Given the description of an element on the screen output the (x, y) to click on. 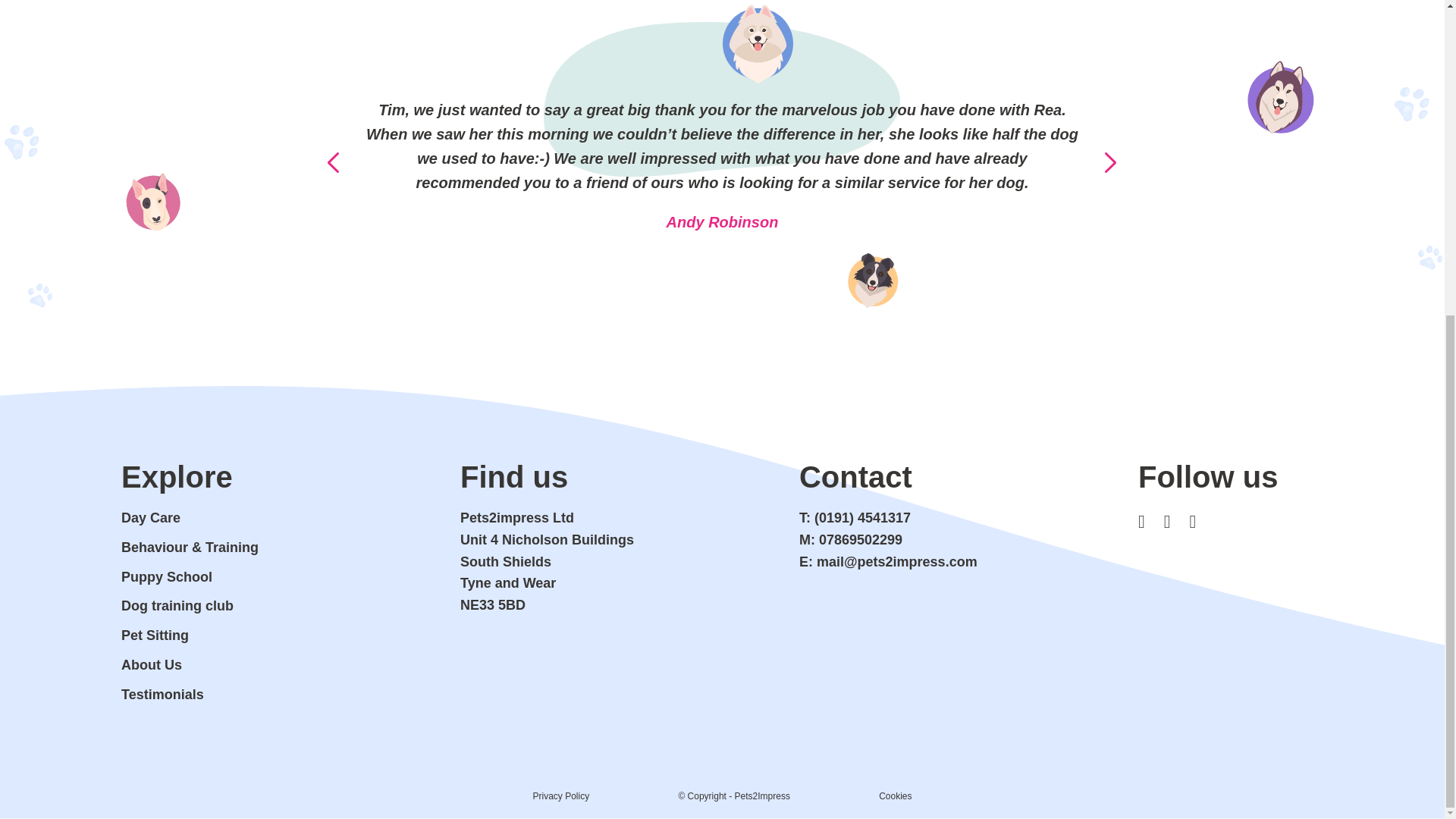
Pet Sitting (154, 635)
Cookies (895, 796)
About Us (151, 664)
Puppy School (166, 576)
Dog training club (176, 605)
Privacy Policy (560, 796)
Day Care (150, 517)
Testimonials (161, 694)
